Given the description of an element on the screen output the (x, y) to click on. 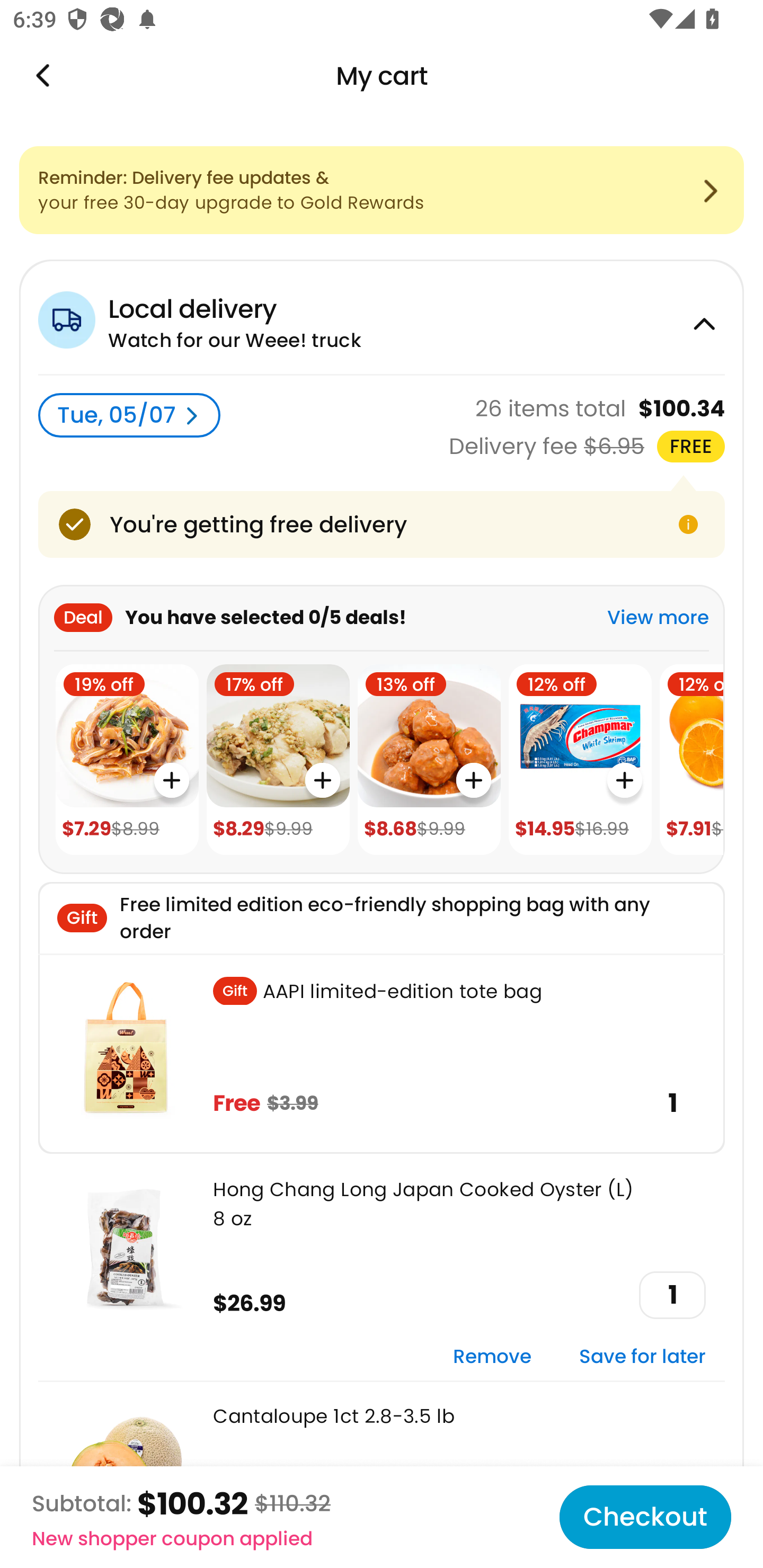
Local delivery Watch for our Weee! truck (381, 317)
Tue, 05/07 (129, 415)
You're getting free delivery (381, 524)
19% off $7.29 $8.99 (126, 759)
17% off $8.29 $9.99 (277, 759)
13% off $8.68 $9.99 (428, 759)
12% off $14.95 $16.99 (579, 759)
. AAPI limited-edition tote bag Free $3.99 1 (381, 1053)
1 (672, 1294)
Remove (491, 1356)
Save for later (642, 1356)
Checkout (644, 1516)
